Given the description of an element on the screen output the (x, y) to click on. 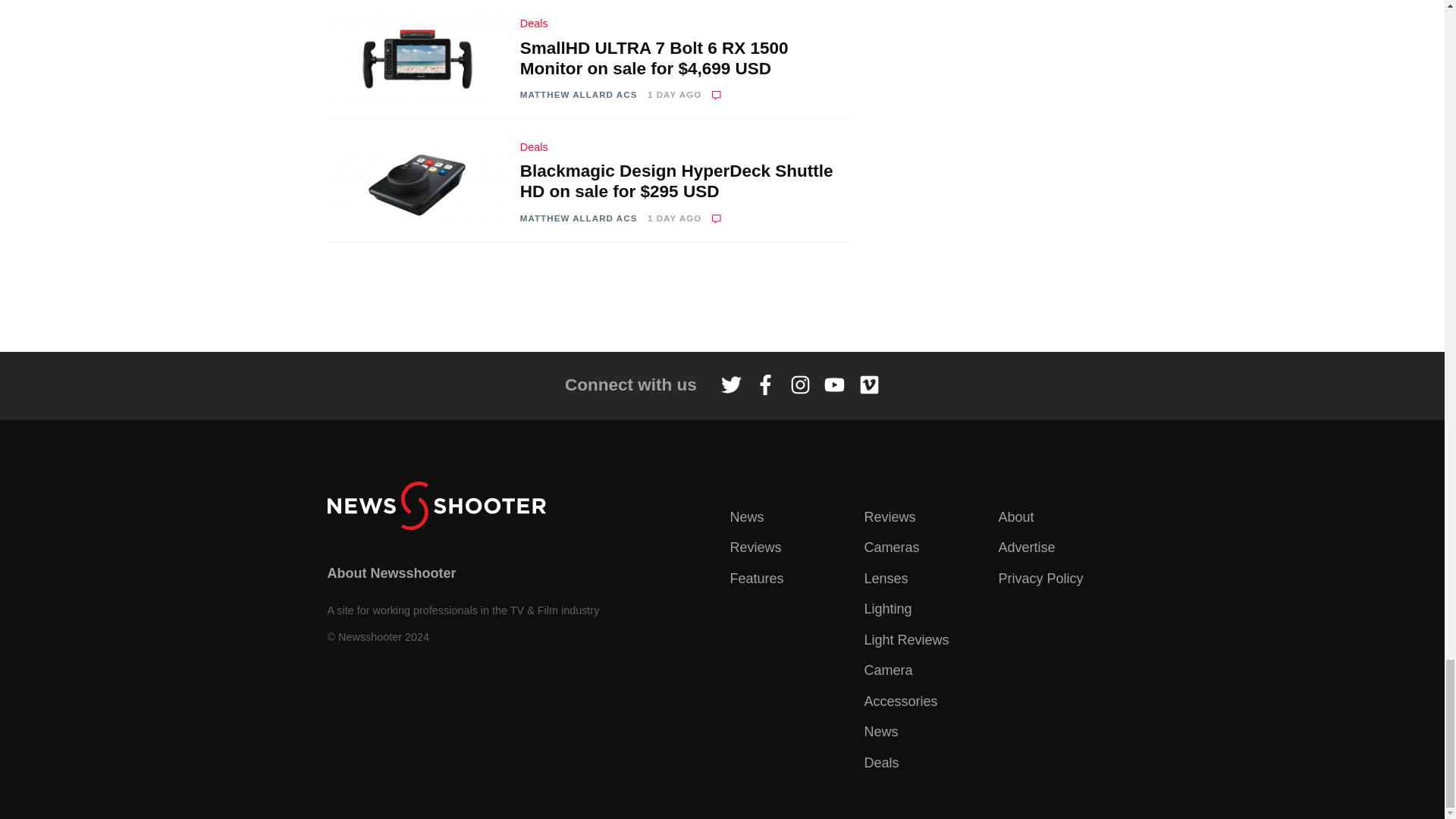
3rd party ad content (721, 296)
